Given the description of an element on the screen output the (x, y) to click on. 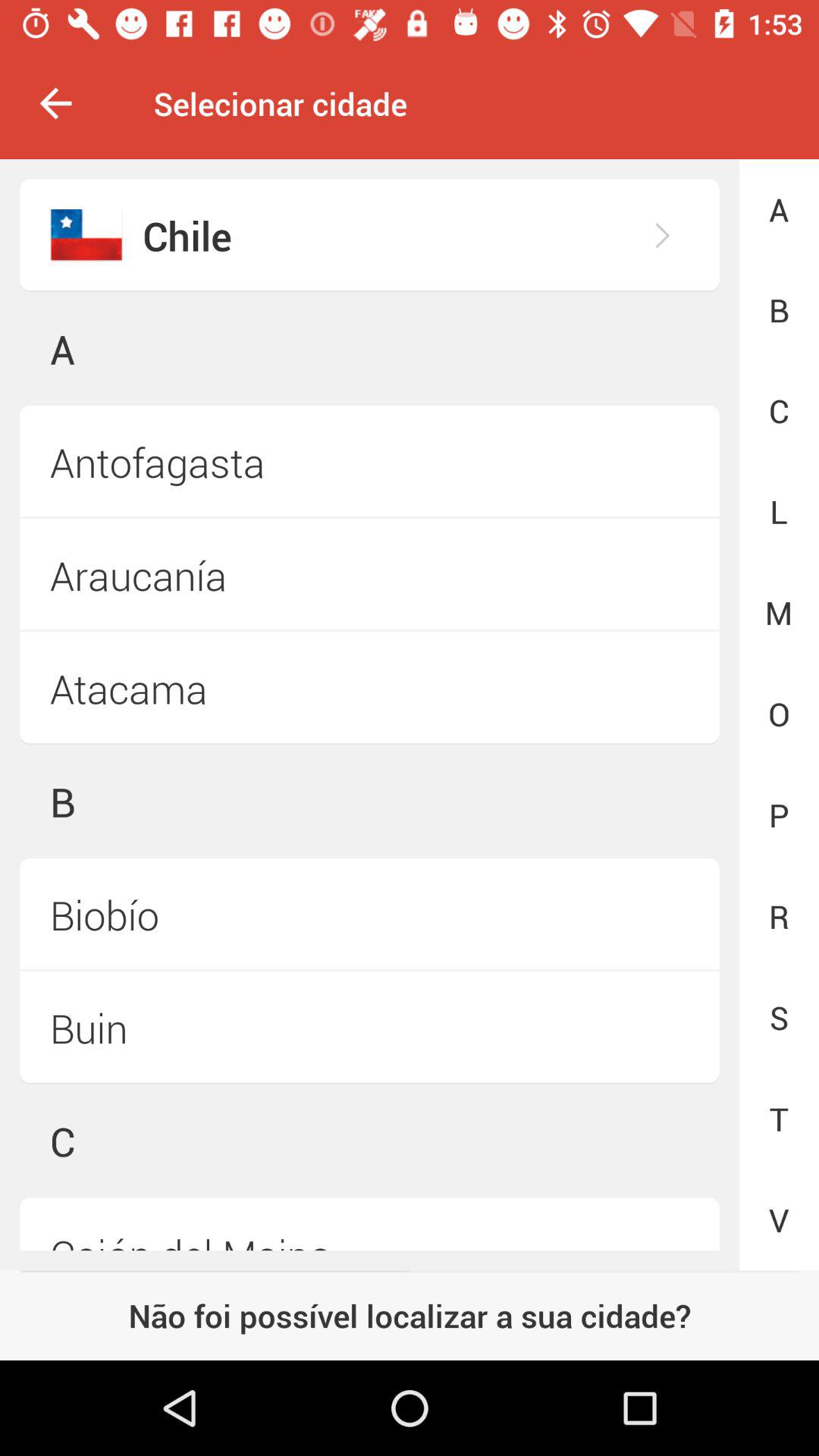
press the icon to the left of r (369, 1027)
